Given the description of an element on the screen output the (x, y) to click on. 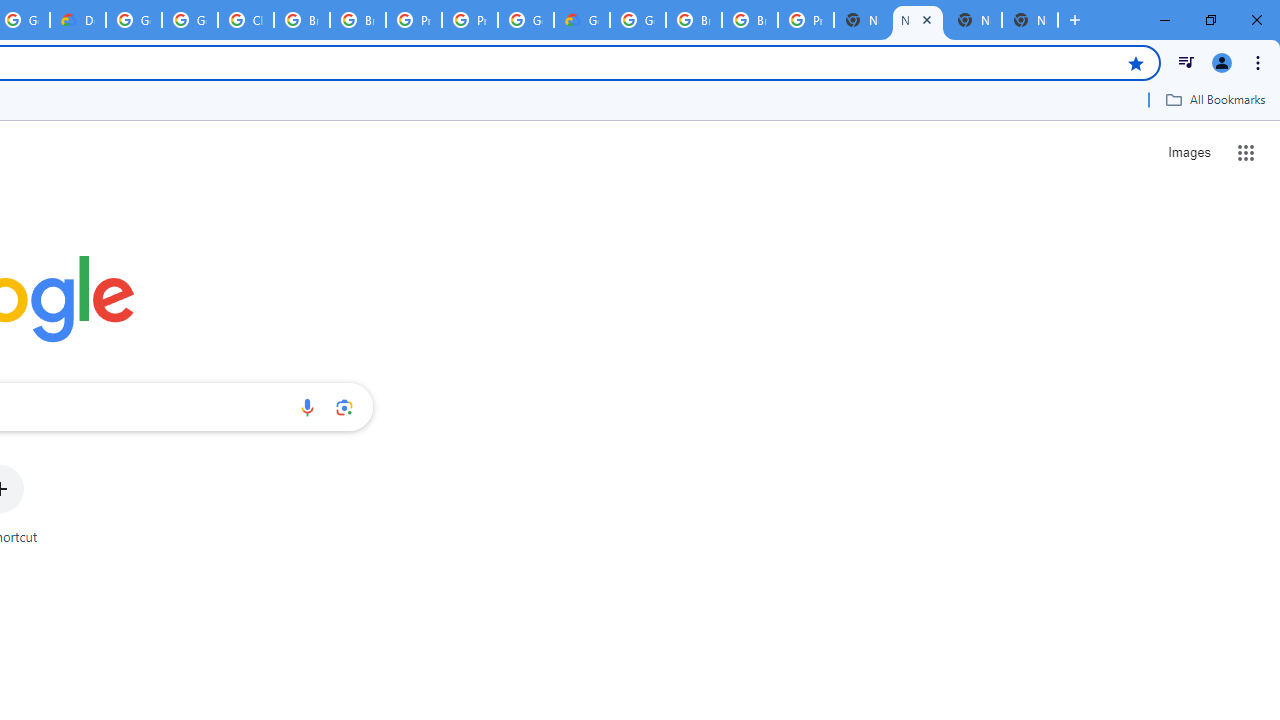
New Tab (1030, 20)
Google Cloud Estimate Summary (582, 20)
New Tab (861, 20)
Google Cloud Platform (525, 20)
Browse Chrome as a guest - Computer - Google Chrome Help (301, 20)
